Given the description of an element on the screen output the (x, y) to click on. 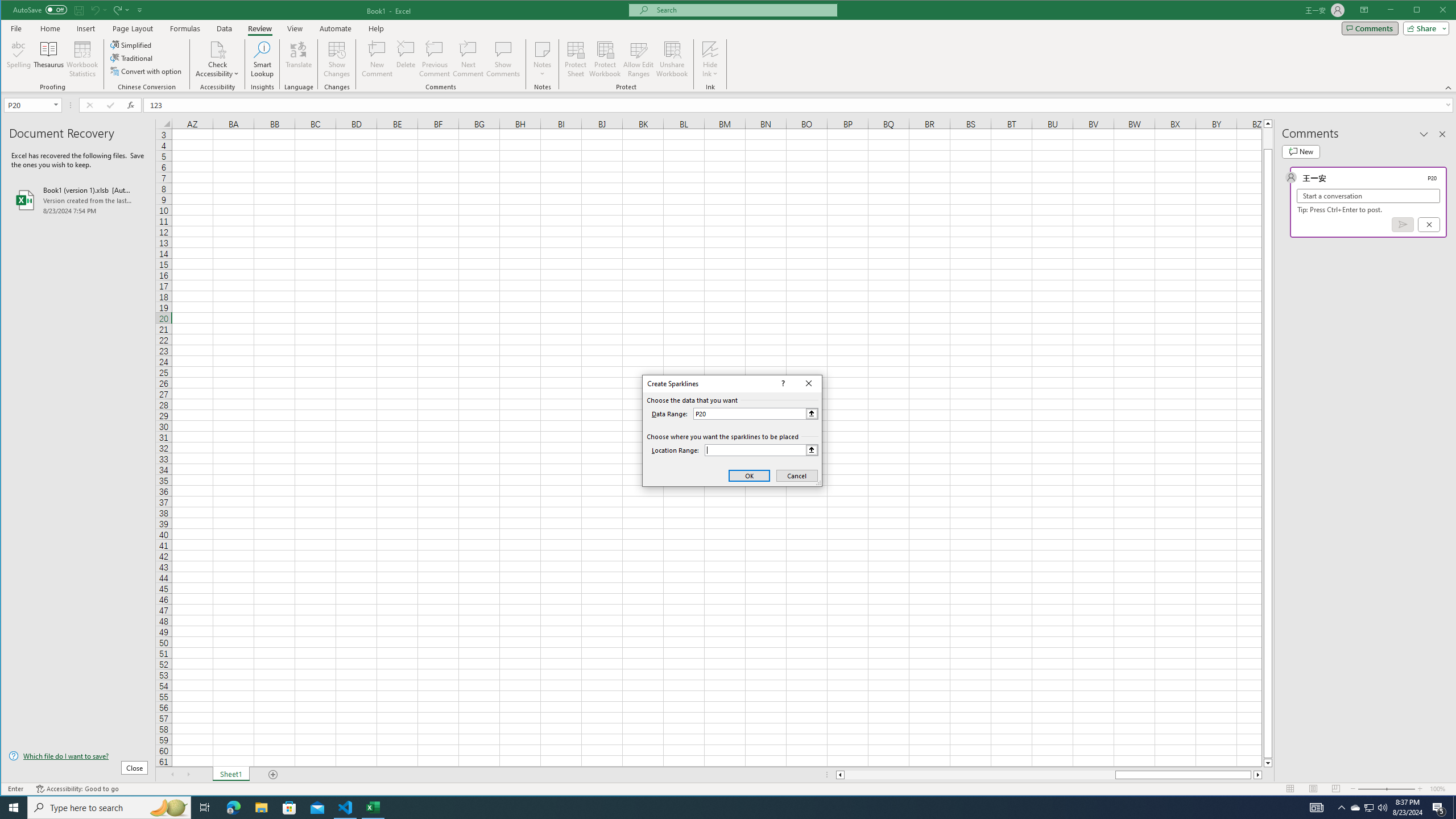
Close pane (1441, 133)
User Promoted Notification Area (1368, 807)
New Comment (377, 59)
Check Accessibility (217, 59)
Hide Ink (710, 59)
Next Comment (467, 59)
Show Comments (502, 59)
Task Pane Options (1423, 133)
Context help (781, 383)
